Given the description of an element on the screen output the (x, y) to click on. 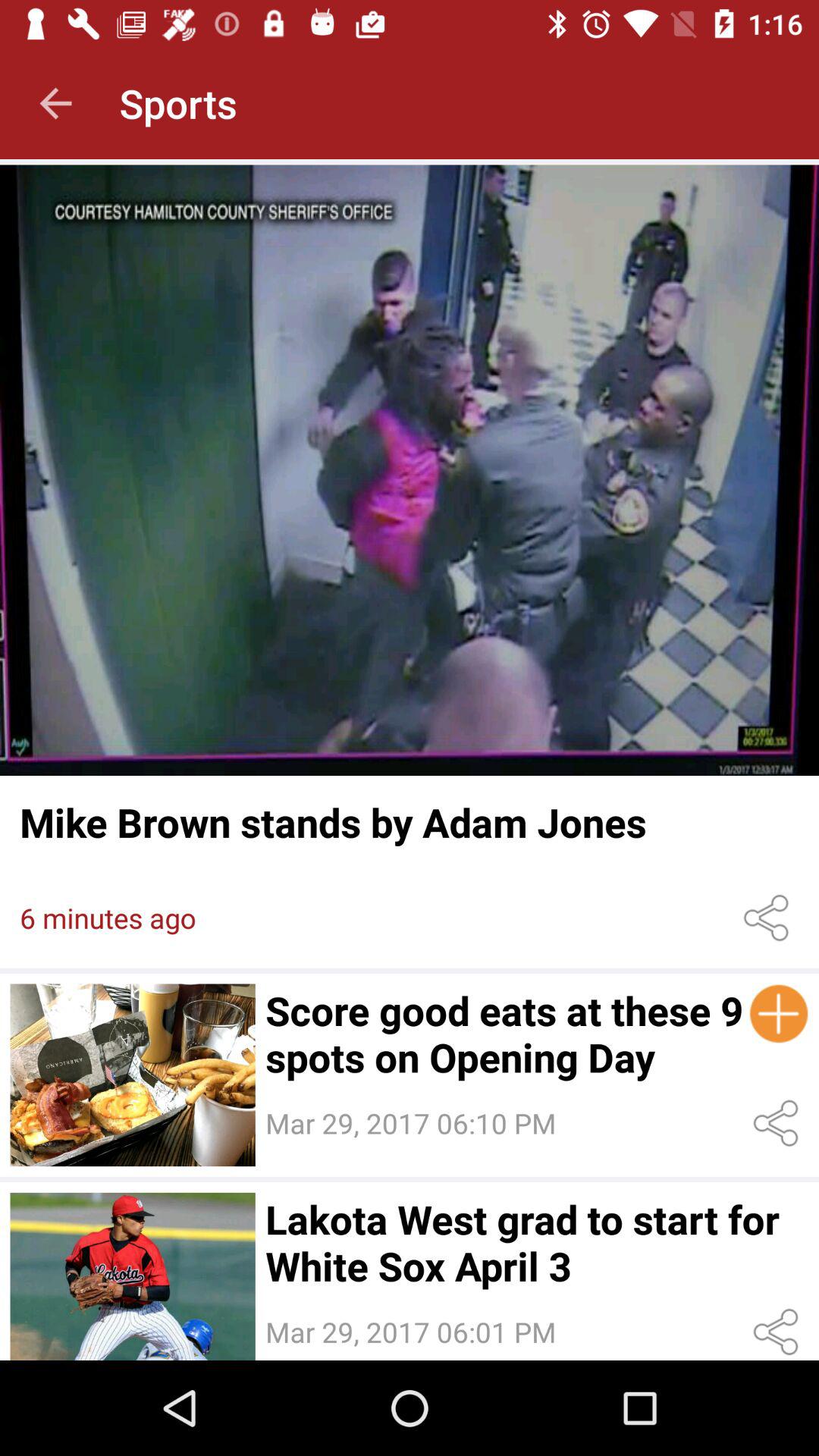
opens article (132, 1074)
